Given the description of an element on the screen output the (x, y) to click on. 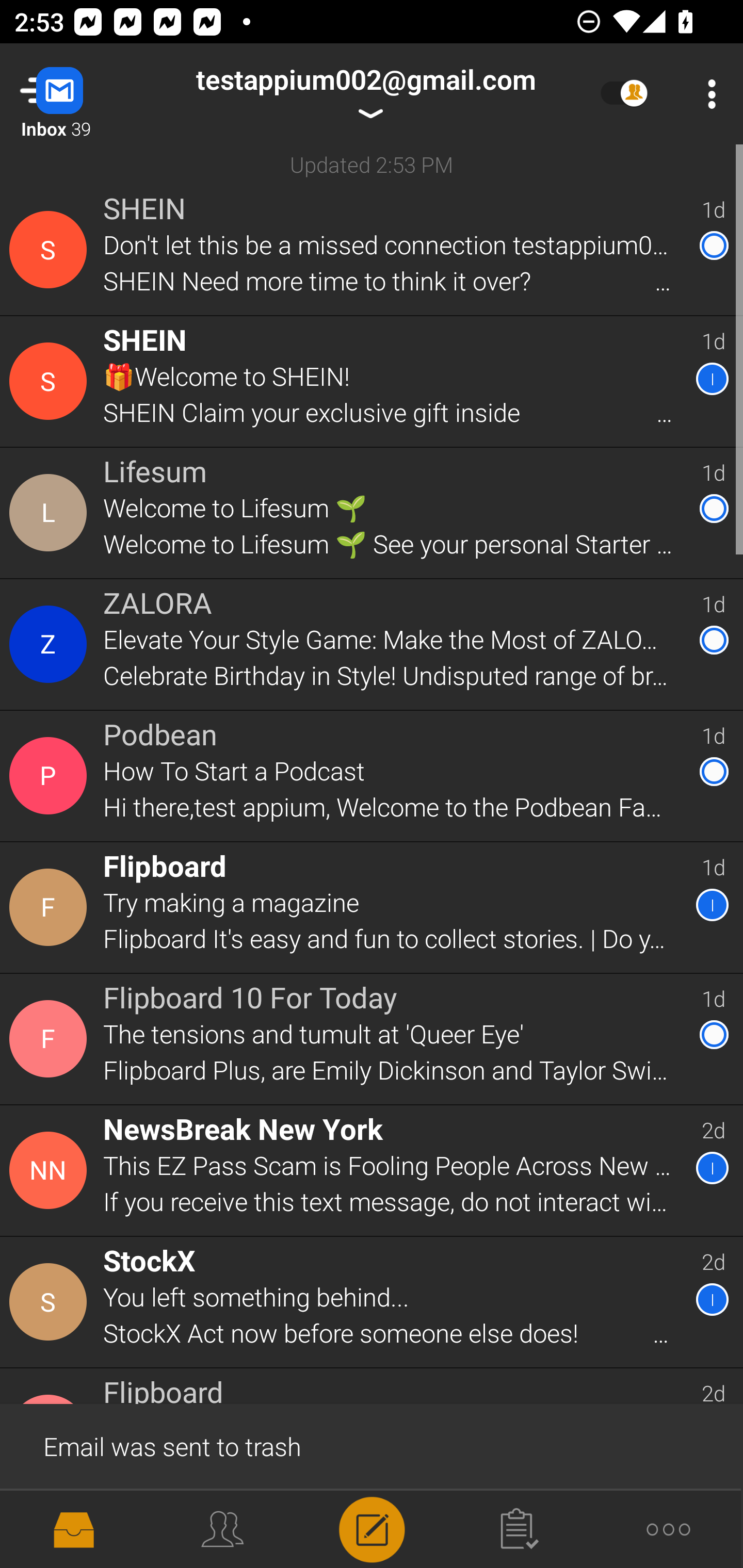
Navigate up (81, 93)
testappium002@gmail.com (365, 93)
More Options (706, 93)
Updated 2:53 PM (371, 164)
Contact Details (50, 250)
Contact Details (50, 381)
Contact Details (50, 513)
Contact Details (50, 644)
Contact Details (50, 776)
Contact Details (50, 907)
Contact Details (50, 1038)
Contact Details (50, 1170)
Contact Details (50, 1302)
Email was sent to trash (371, 1445)
Compose (371, 1528)
